Given the description of an element on the screen output the (x, y) to click on. 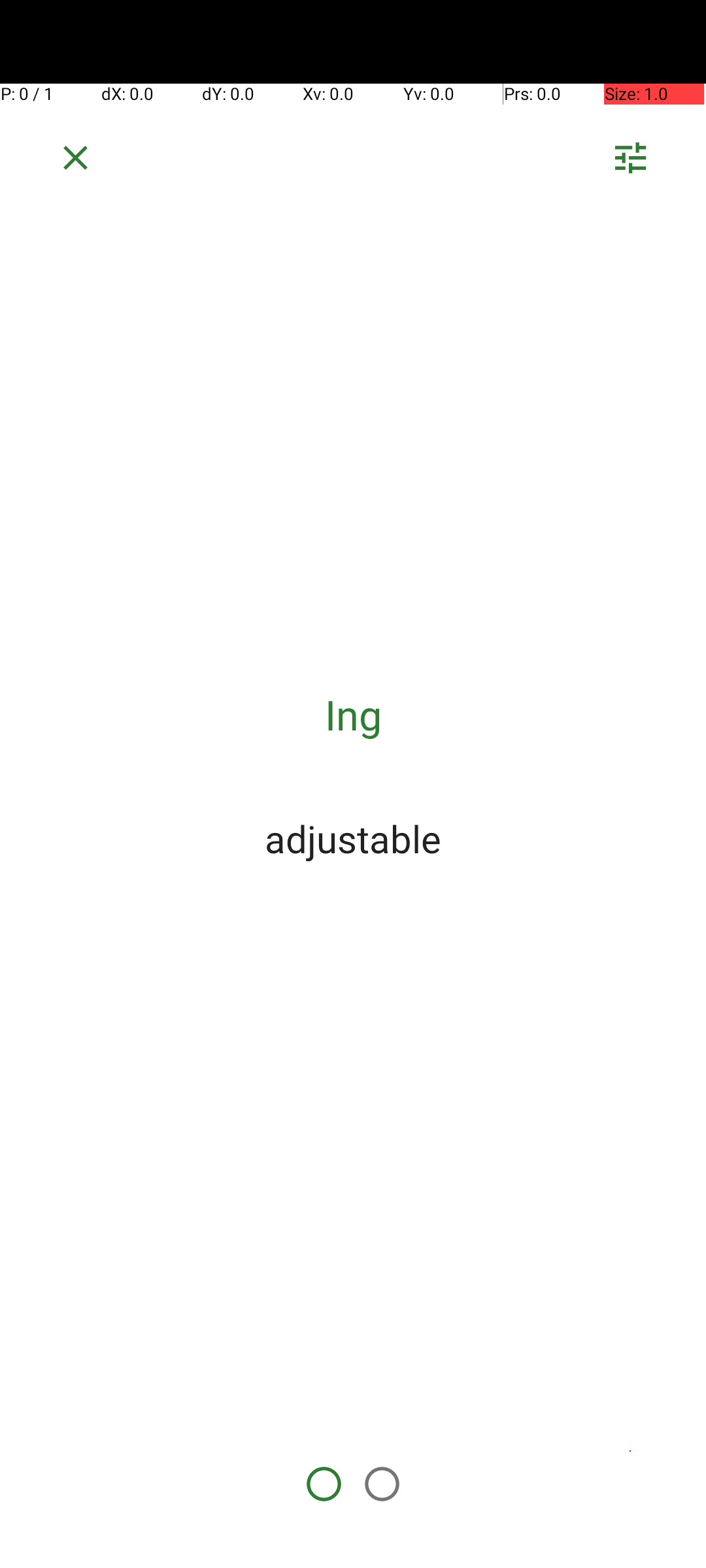
adjustable Element type: android.widget.TextView (352, 838)
